Given the description of an element on the screen output the (x, y) to click on. 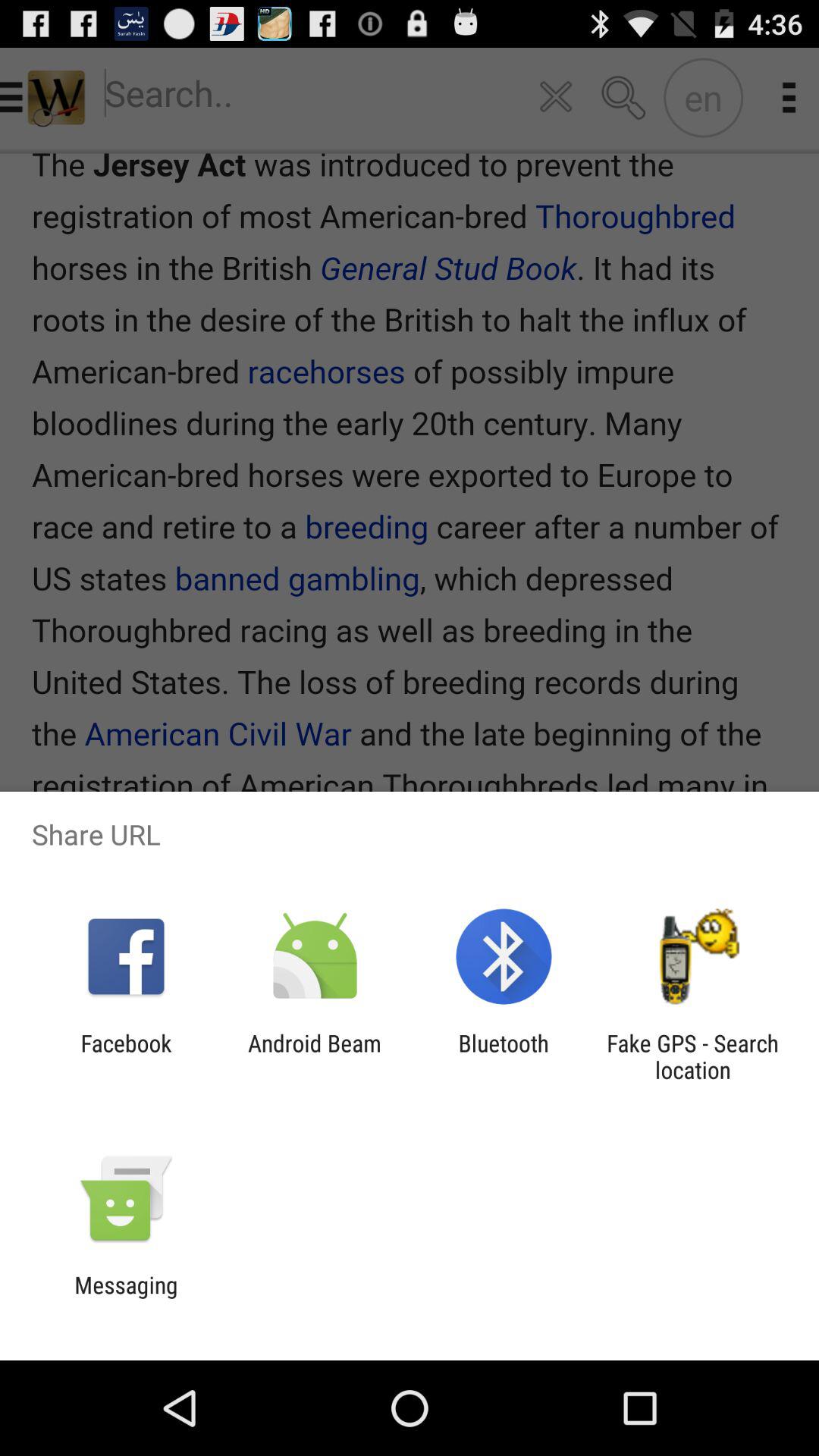
turn off app next to bluetooth item (692, 1056)
